Given the description of an element on the screen output the (x, y) to click on. 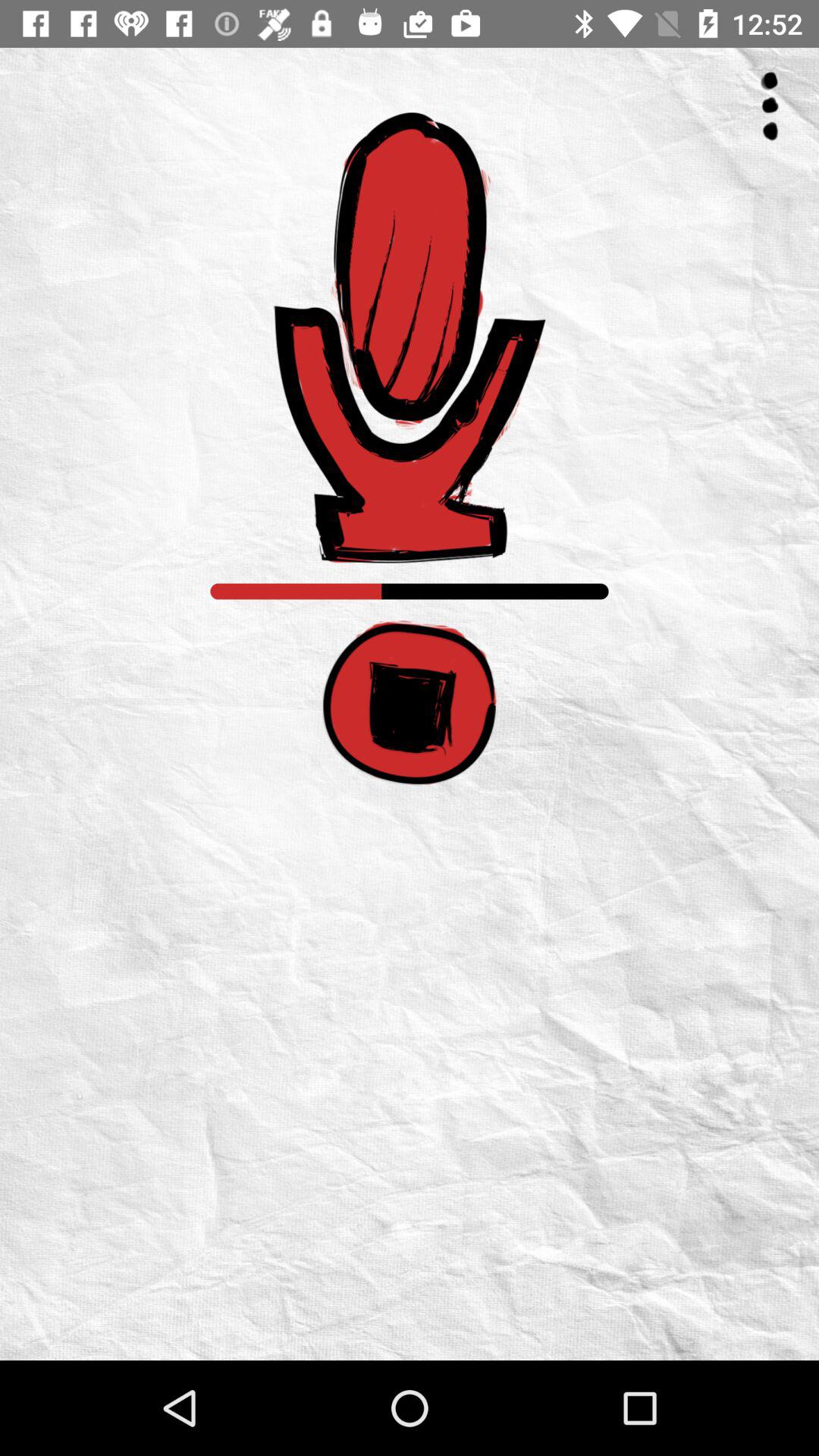
image logo (409, 337)
